Given the description of an element on the screen output the (x, y) to click on. 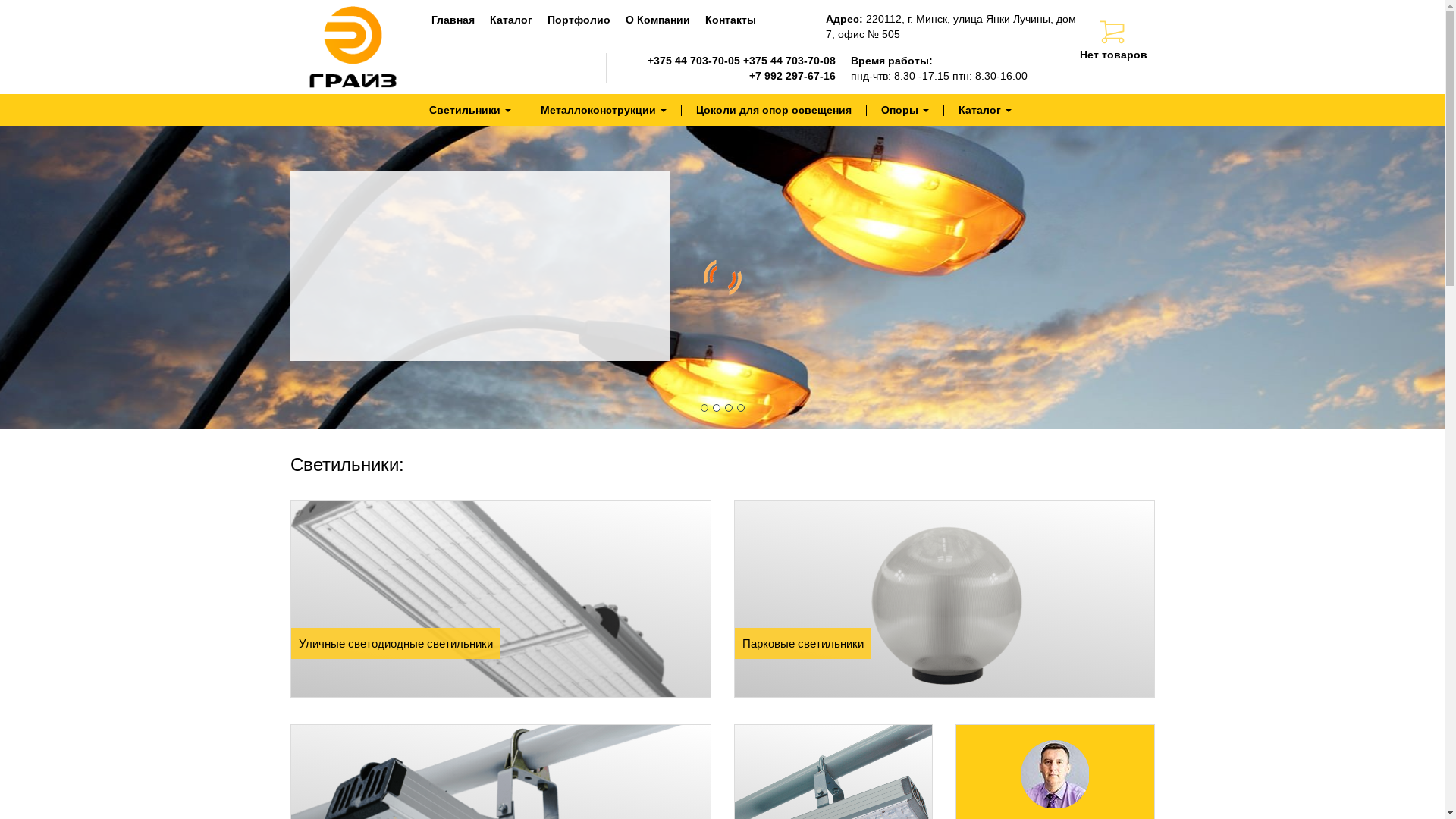
+375 44 703-70-05 +375 44 703-70-08 Element type: text (741, 60)
+7 992 297-67-16 Element type: text (792, 75)
